Given the description of an element on the screen output the (x, y) to click on. 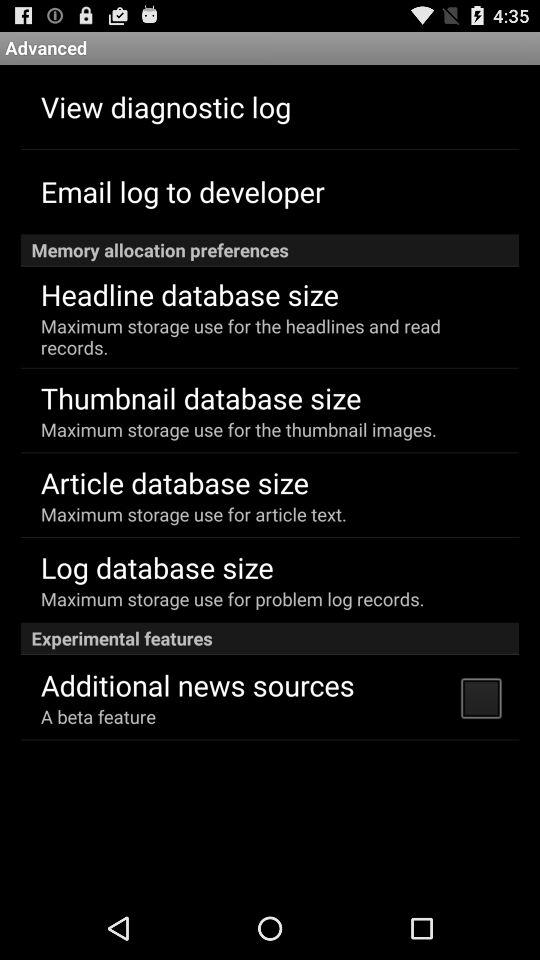
turn off the app above the email log to app (165, 106)
